Given the description of an element on the screen output the (x, y) to click on. 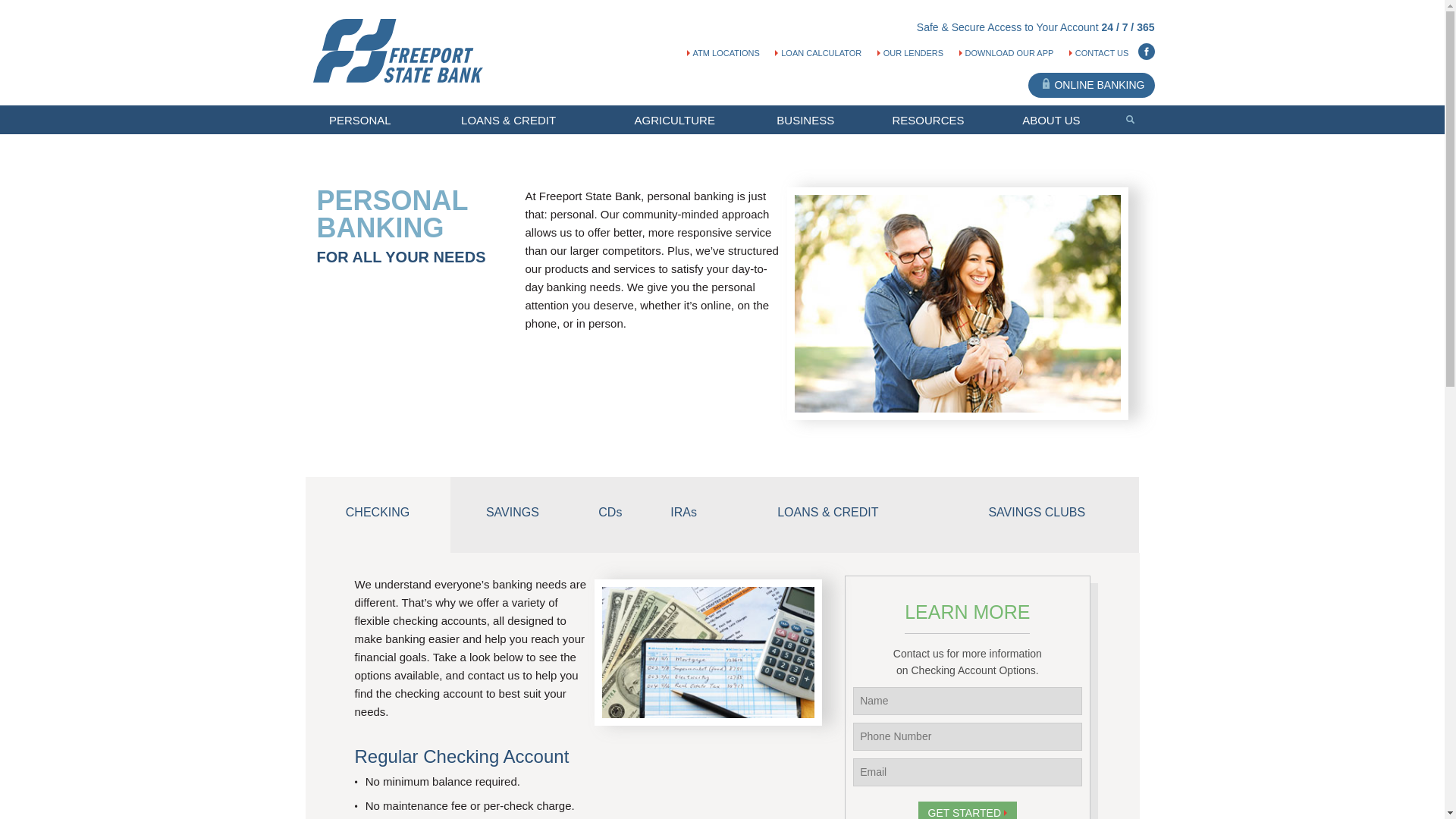
IRAs (684, 514)
AGRICULTURE (680, 120)
ATM LOCATIONS (723, 52)
CONTACT US (1098, 52)
LOAN CALCULATOR (817, 52)
BUSINESS (810, 120)
PERSONAL (366, 120)
ABOUT US (1056, 120)
SAVINGS (512, 514)
ONLINE BANKING (1090, 85)
CHECKING (376, 514)
RESOURCES (932, 120)
CDs (610, 514)
OUR LENDERS (910, 52)
DOWNLOAD OUR APP (1006, 52)
